Given the description of an element on the screen output the (x, y) to click on. 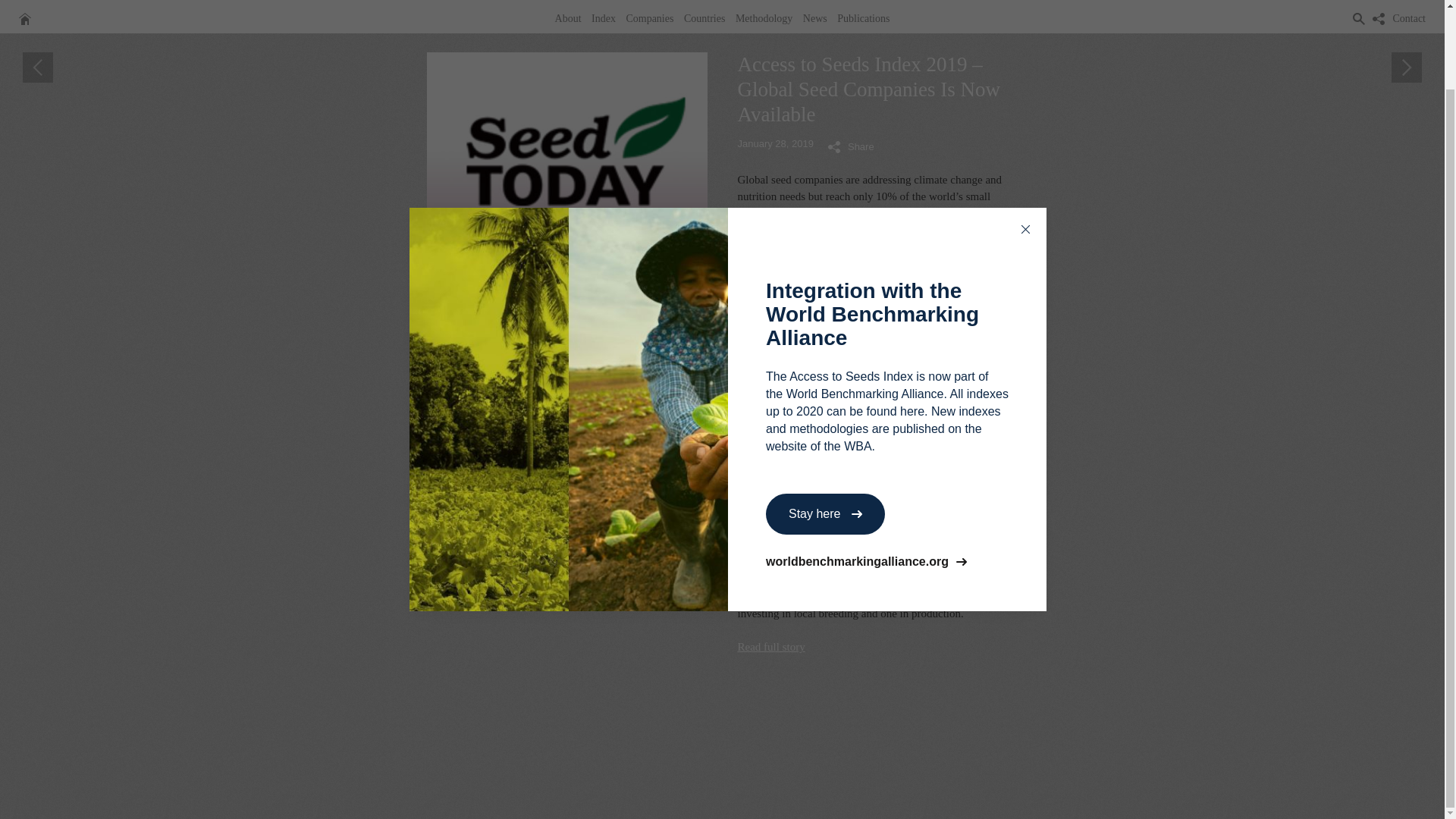
Read full story (770, 646)
Share (851, 146)
worldbenchmarkingalliance.org (887, 472)
Stay here (825, 424)
